Given the description of an element on the screen output the (x, y) to click on. 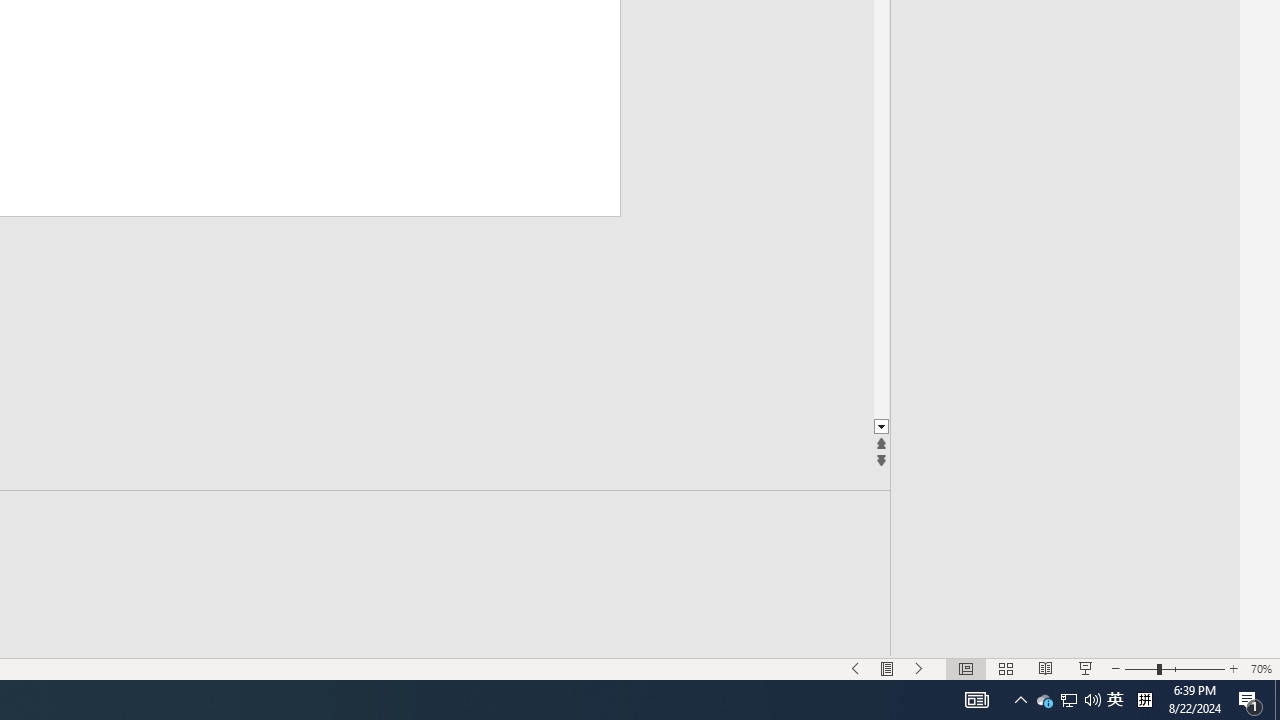
Menu On (887, 668)
